Given the description of an element on the screen output the (x, y) to click on. 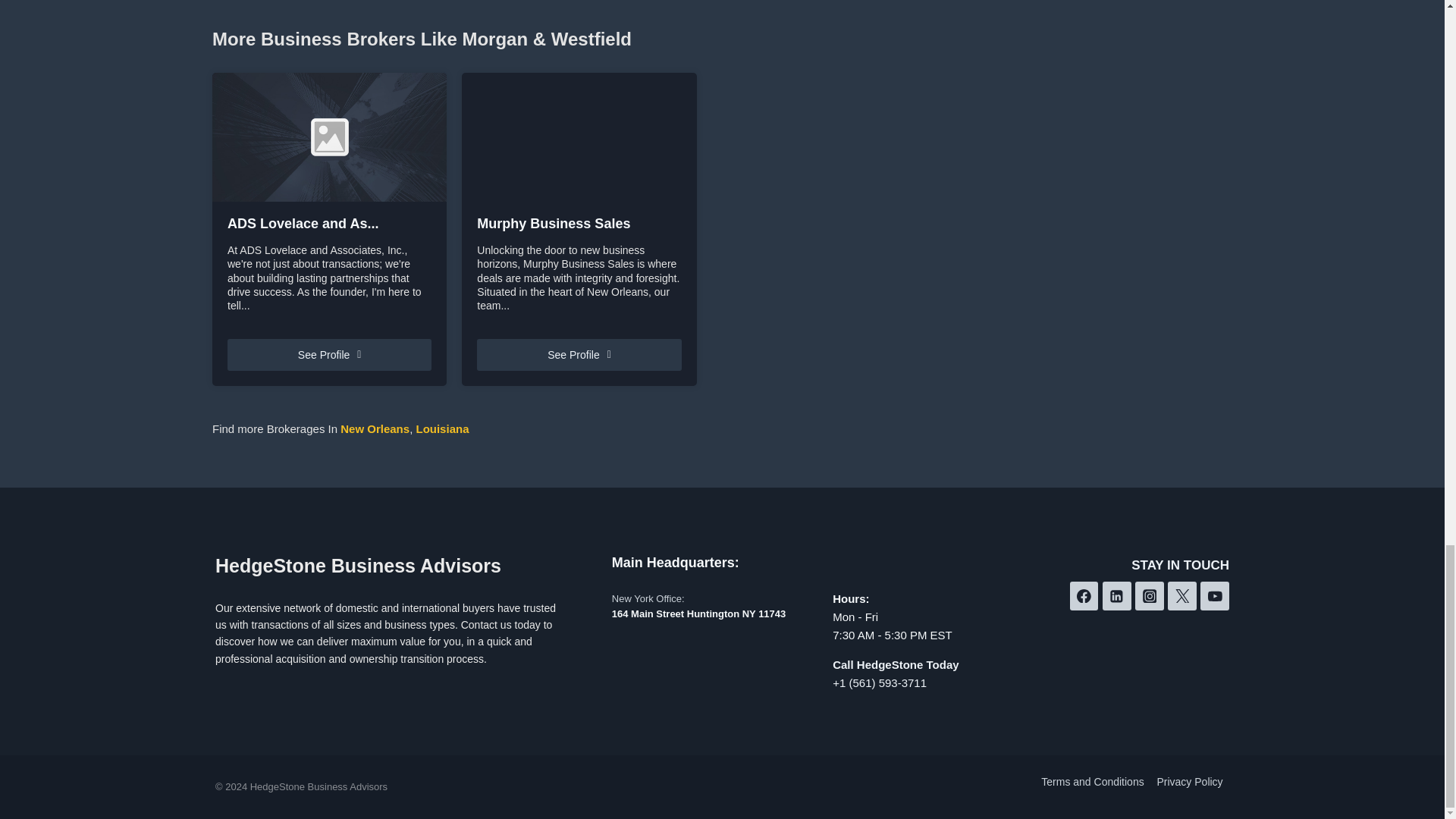
New Orleans (374, 428)
See Profile (579, 355)
ADS Lovelace and As... (328, 224)
Murphy Business Sales (579, 224)
See Profile (328, 355)
